Given the description of an element on the screen output the (x, y) to click on. 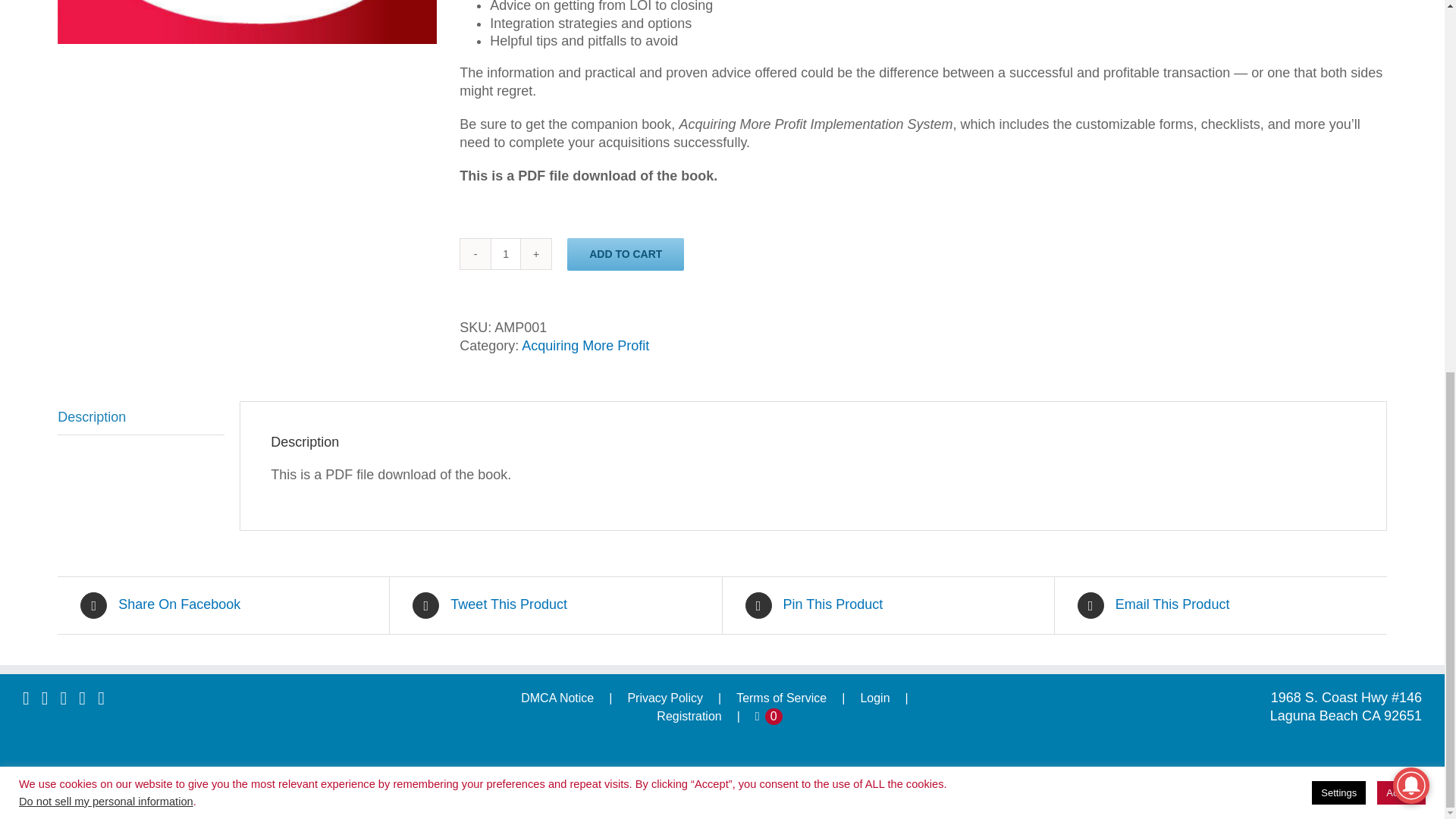
1 (505, 254)
DMCA Notice (574, 697)
Terms of Use (798, 697)
Privacy Policy (681, 697)
Book (247, 22)
- (475, 254)
